Given the description of an element on the screen output the (x, y) to click on. 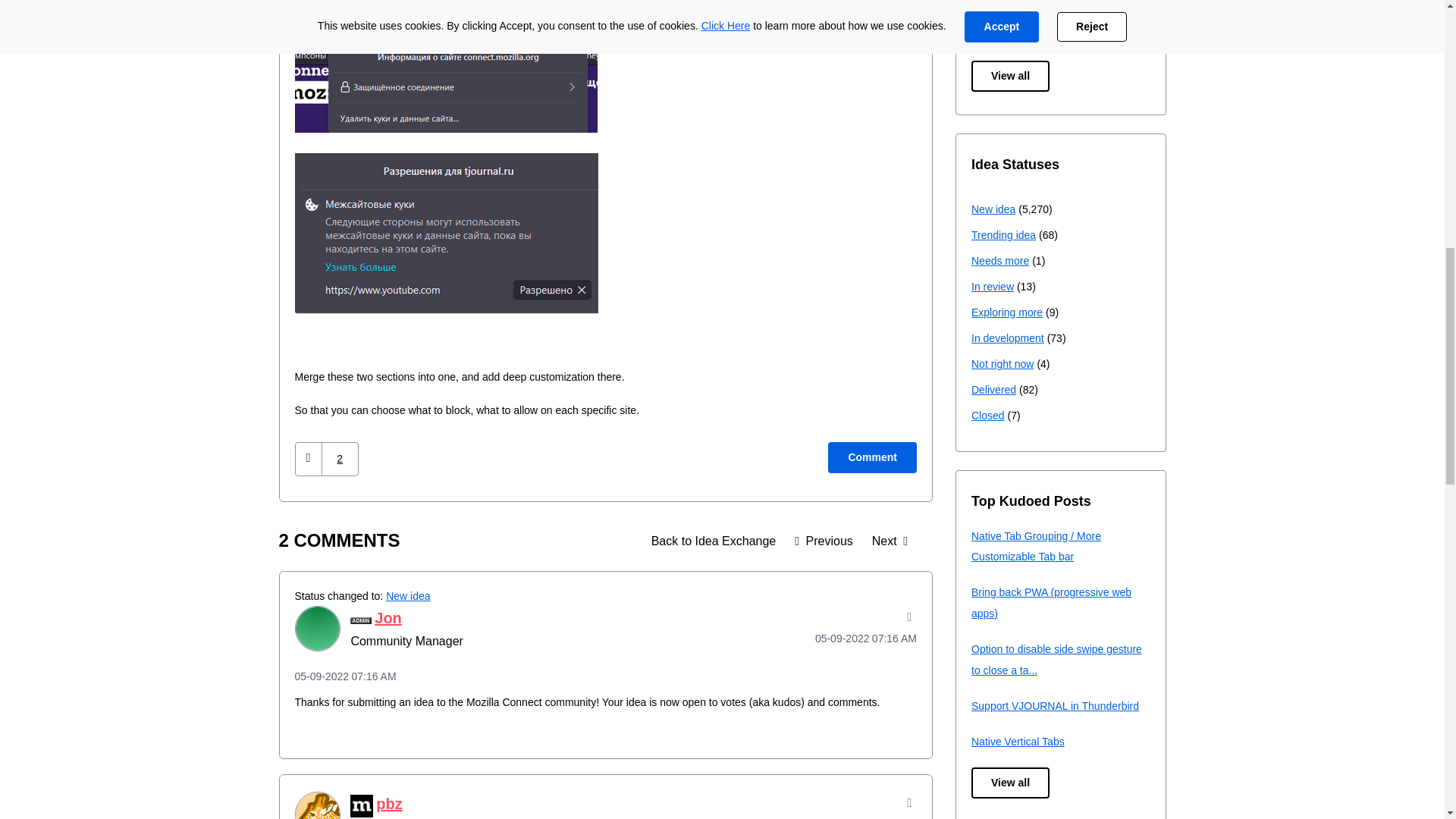
Back to Idea Exchange (714, 540)
Ideas (714, 540)
2 (339, 458)
Click here to see who gave kudos to this post. (339, 458)
Click here to give kudos to this post. (307, 459)
Previous (823, 540)
Showing browser version in the About window (889, 540)
Display markdown files (823, 540)
Comment (872, 457)
Jon (316, 628)
